Given the description of an element on the screen output the (x, y) to click on. 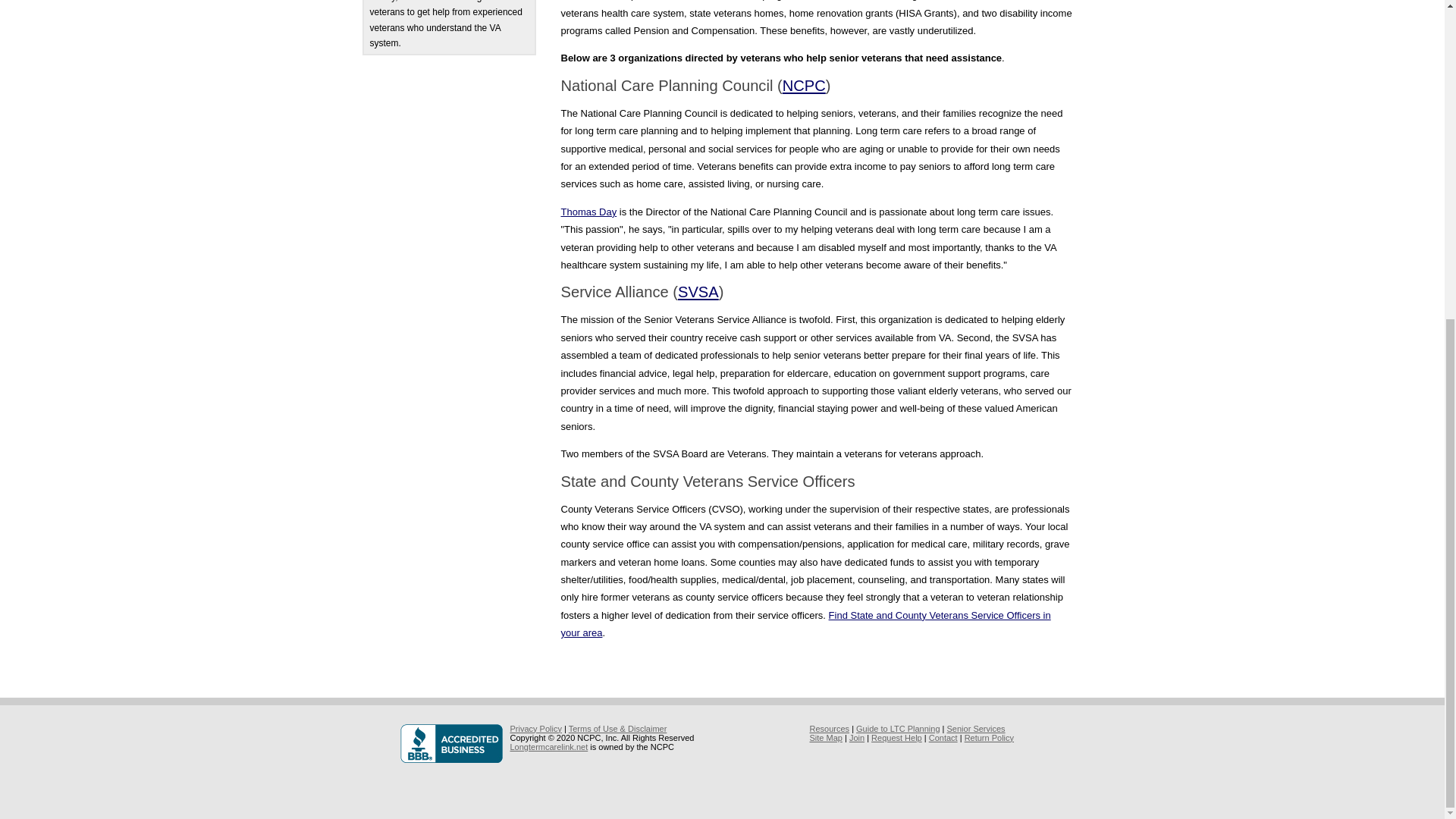
Resources (829, 728)
Find State and County Veterans Service Officers in your area (805, 623)
Request Help (895, 737)
Site Map (826, 737)
Privacy Policy (534, 728)
Guide to LTC Planning (897, 728)
SVSA (698, 291)
Contact (943, 737)
NCPC (804, 85)
Return Policy (988, 737)
Senior Services (976, 728)
Thomas Day (588, 211)
Longtermcarelink.net (548, 746)
Join (856, 737)
The NCPC is a BBB Accredited Business (455, 742)
